Given the description of an element on the screen output the (x, y) to click on. 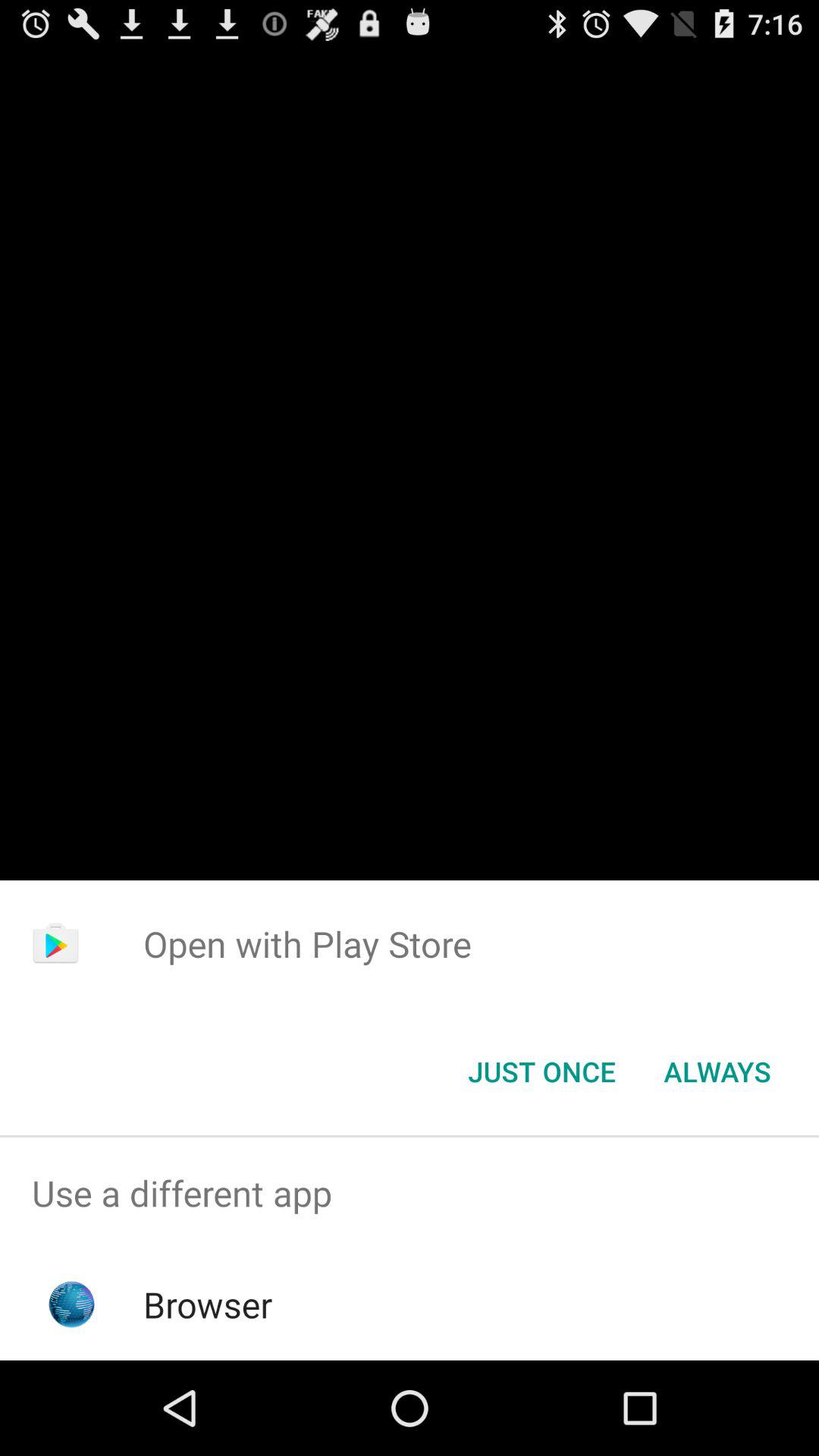
turn off use a different app (409, 1192)
